Given the description of an element on the screen output the (x, y) to click on. 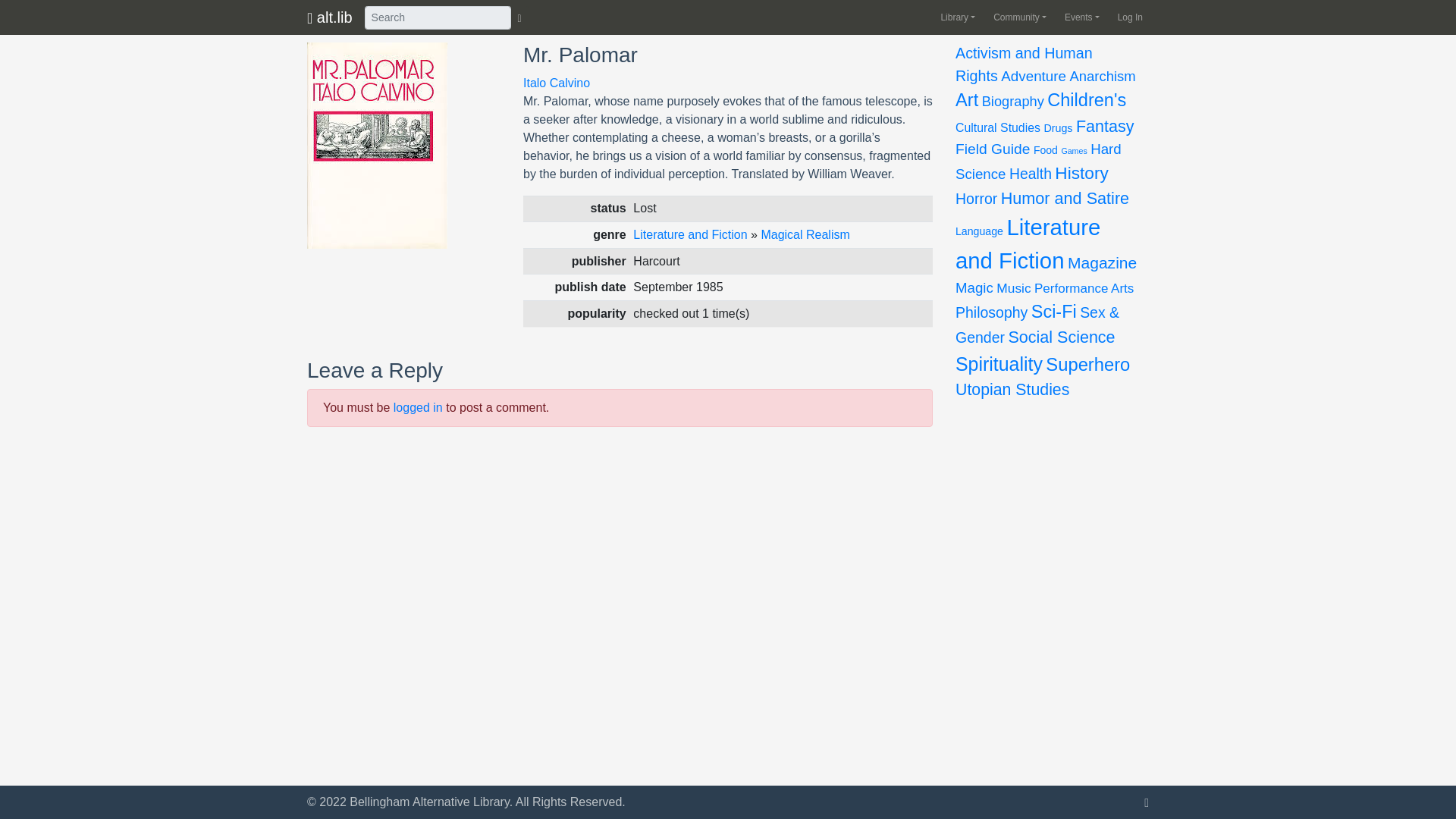
Library (954, 17)
Health (1030, 173)
Community (1016, 17)
Events (1078, 17)
Hard Science (1038, 160)
Library (954, 17)
History (1081, 172)
Field Guide (992, 148)
Drugs (1057, 128)
alt.lib (329, 17)
